Given the description of an element on the screen output the (x, y) to click on. 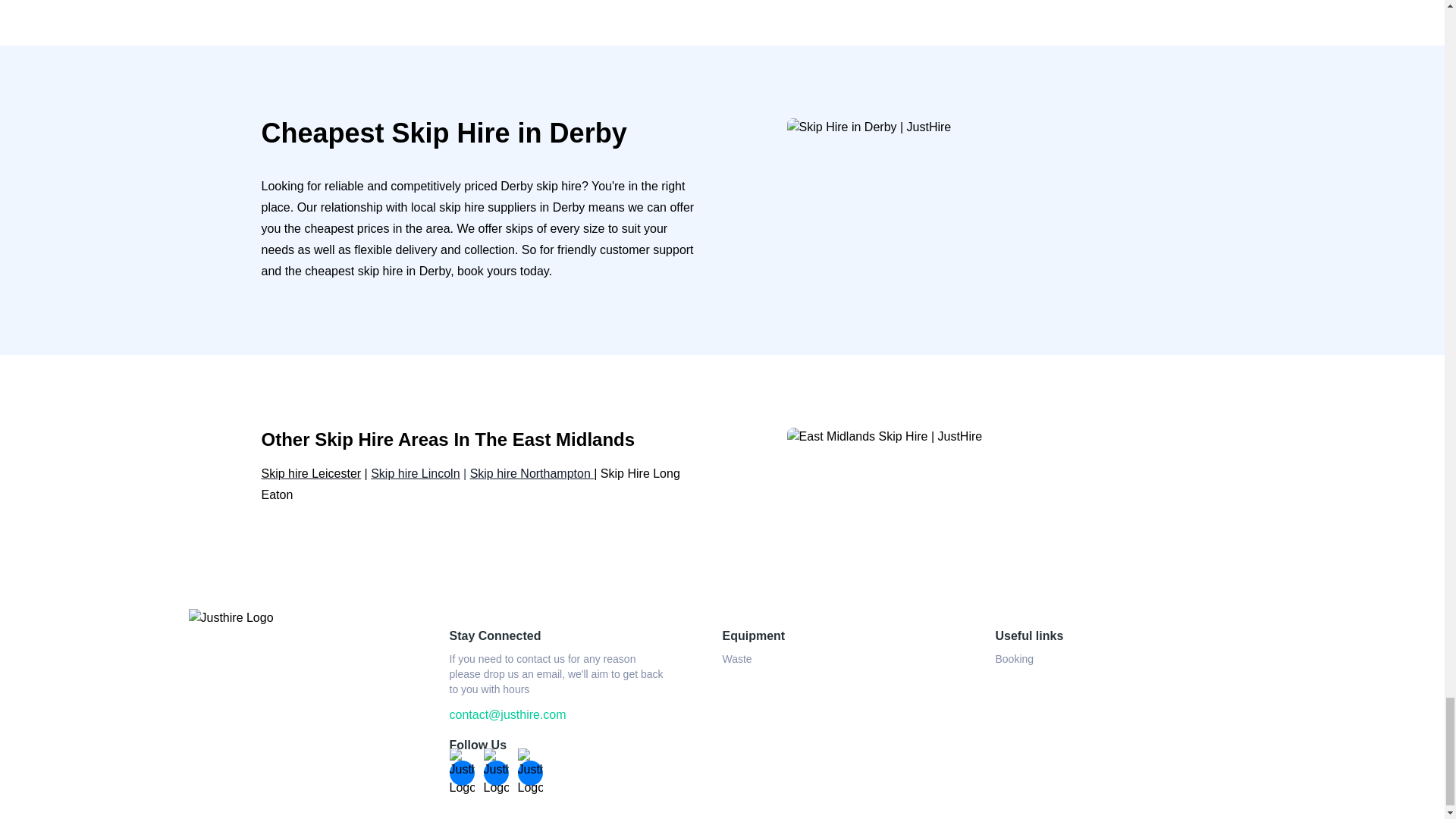
Skip hire Northampton (532, 472)
Waste (736, 658)
Skip hire Lincoln (415, 472)
Skip hire Leicester (310, 472)
Booking (1013, 658)
